Given the description of an element on the screen output the (x, y) to click on. 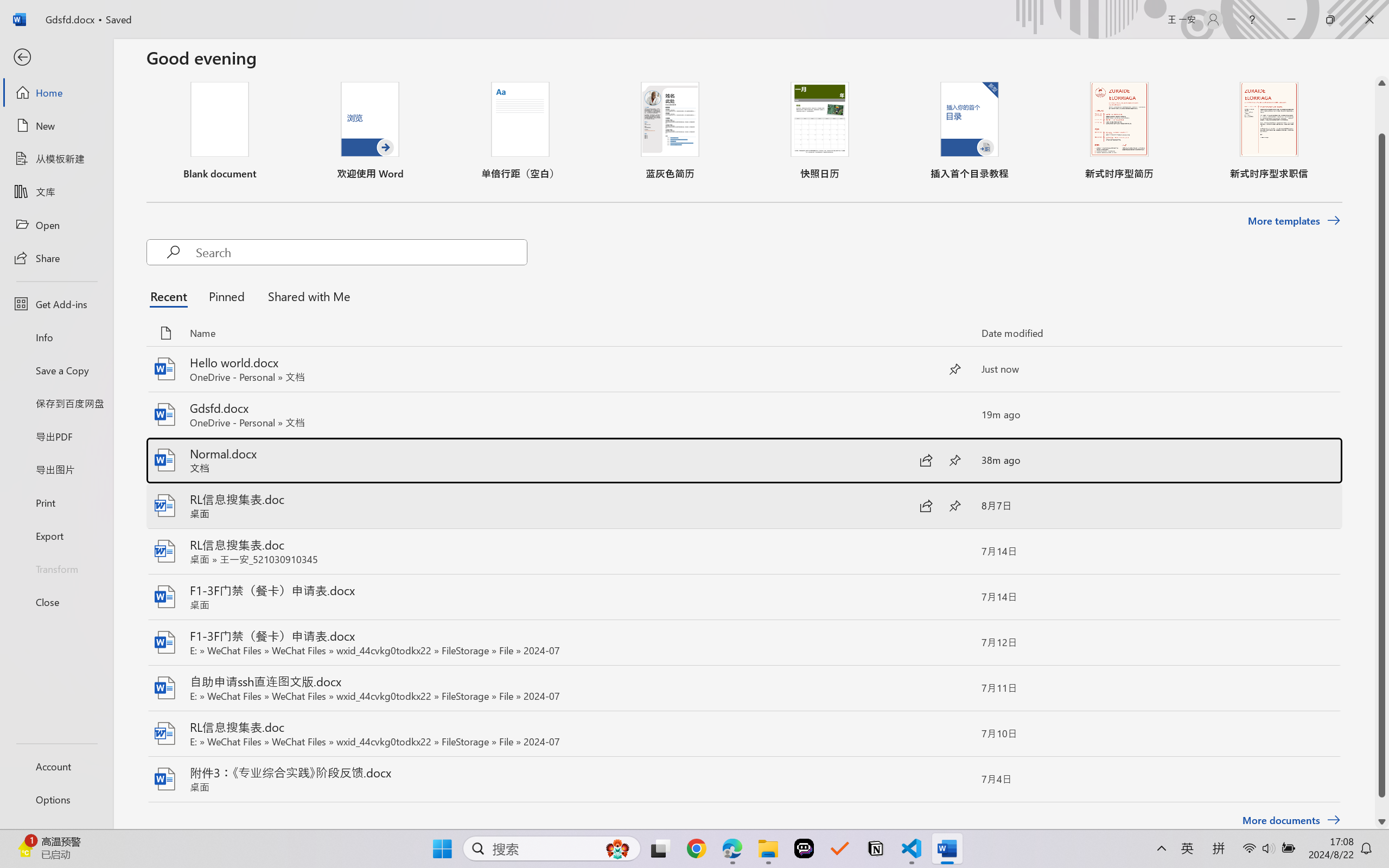
Options (56, 798)
